Given the description of an element on the screen output the (x, y) to click on. 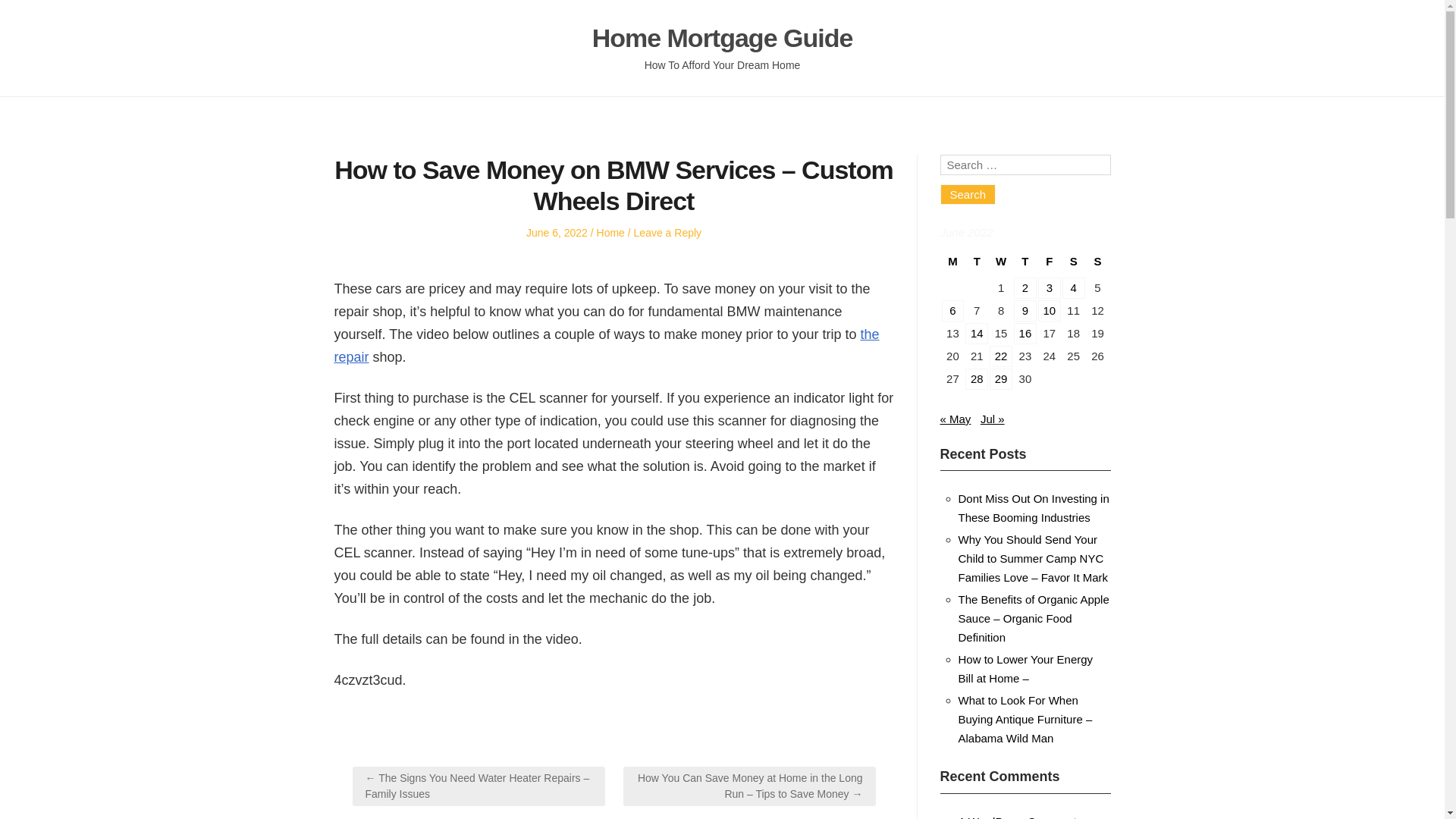
Search (967, 194)
Friday (1048, 263)
Home Mortgage Guide (722, 38)
28 (976, 378)
10 (1049, 310)
Leave a Reply (667, 232)
Saturday (1073, 263)
Search (967, 194)
14 (976, 332)
22 (1000, 355)
